Given the description of an element on the screen output the (x, y) to click on. 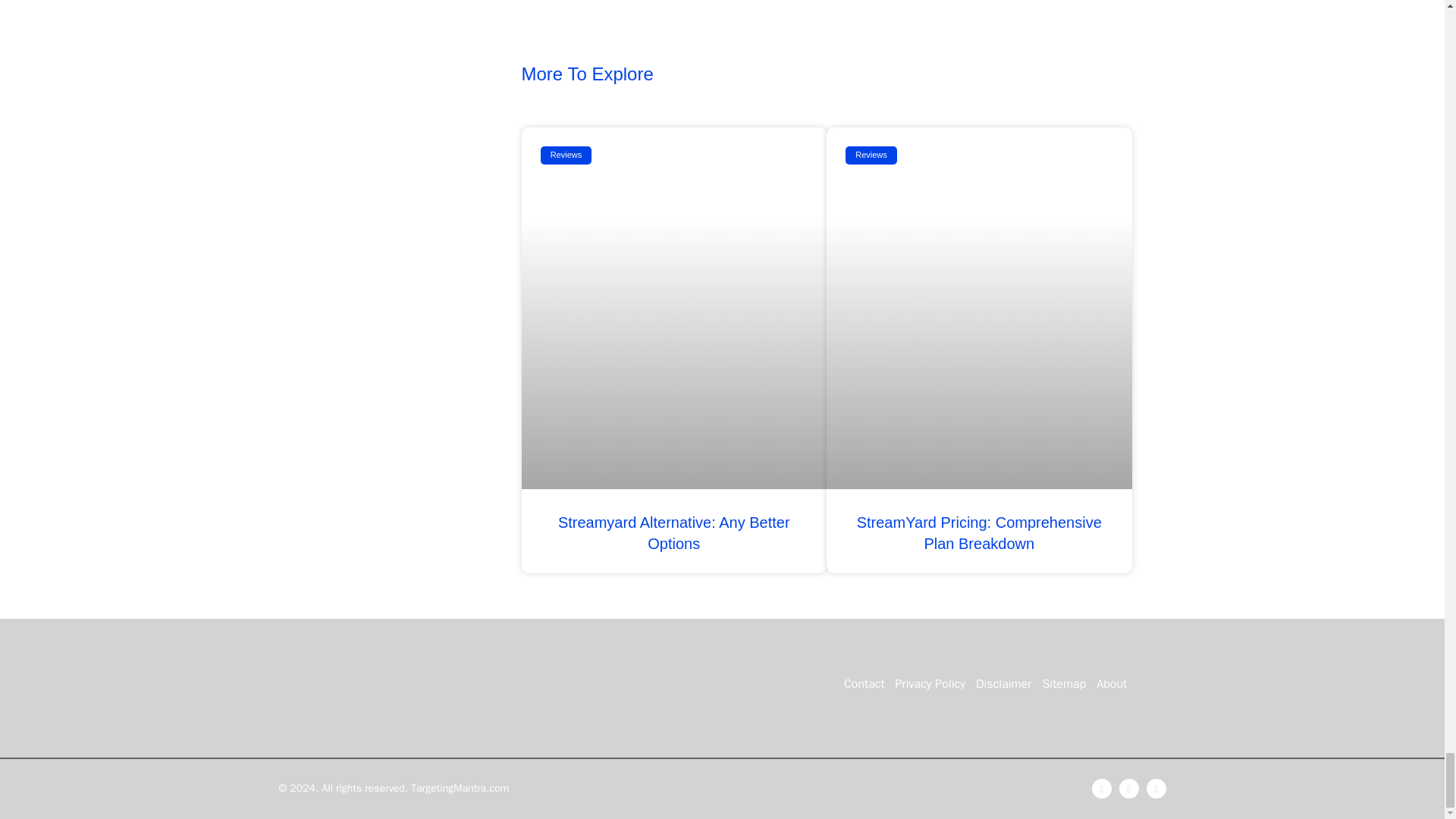
StreamYard Pricing: Comprehensive Plan Breakdown (979, 533)
About (1111, 683)
Disclaimer (1003, 683)
Sitemap (1063, 683)
Contact (863, 683)
Streamyard Alternative: Any Better Options (673, 533)
Privacy Policy (930, 683)
